Given the description of an element on the screen output the (x, y) to click on. 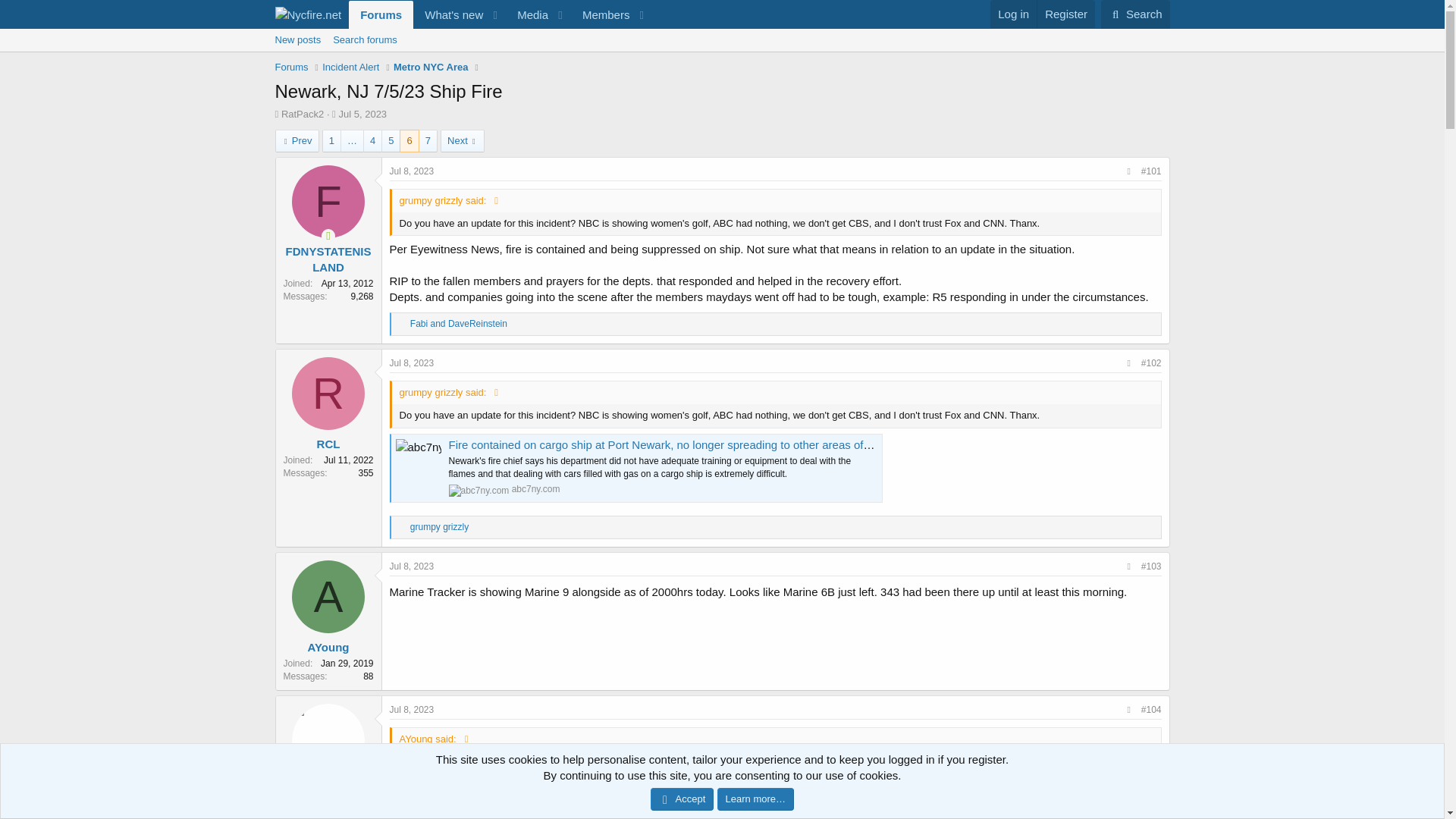
What's new (448, 14)
Jul 5, 2023 at 10:58 PM (362, 113)
Search forums (364, 39)
New posts (296, 39)
Jul 8, 2023 at 9:37 PM (411, 709)
Prev (499, 14)
Metro NYC Area (296, 140)
Forums (720, 39)
